Given the description of an element on the screen output the (x, y) to click on. 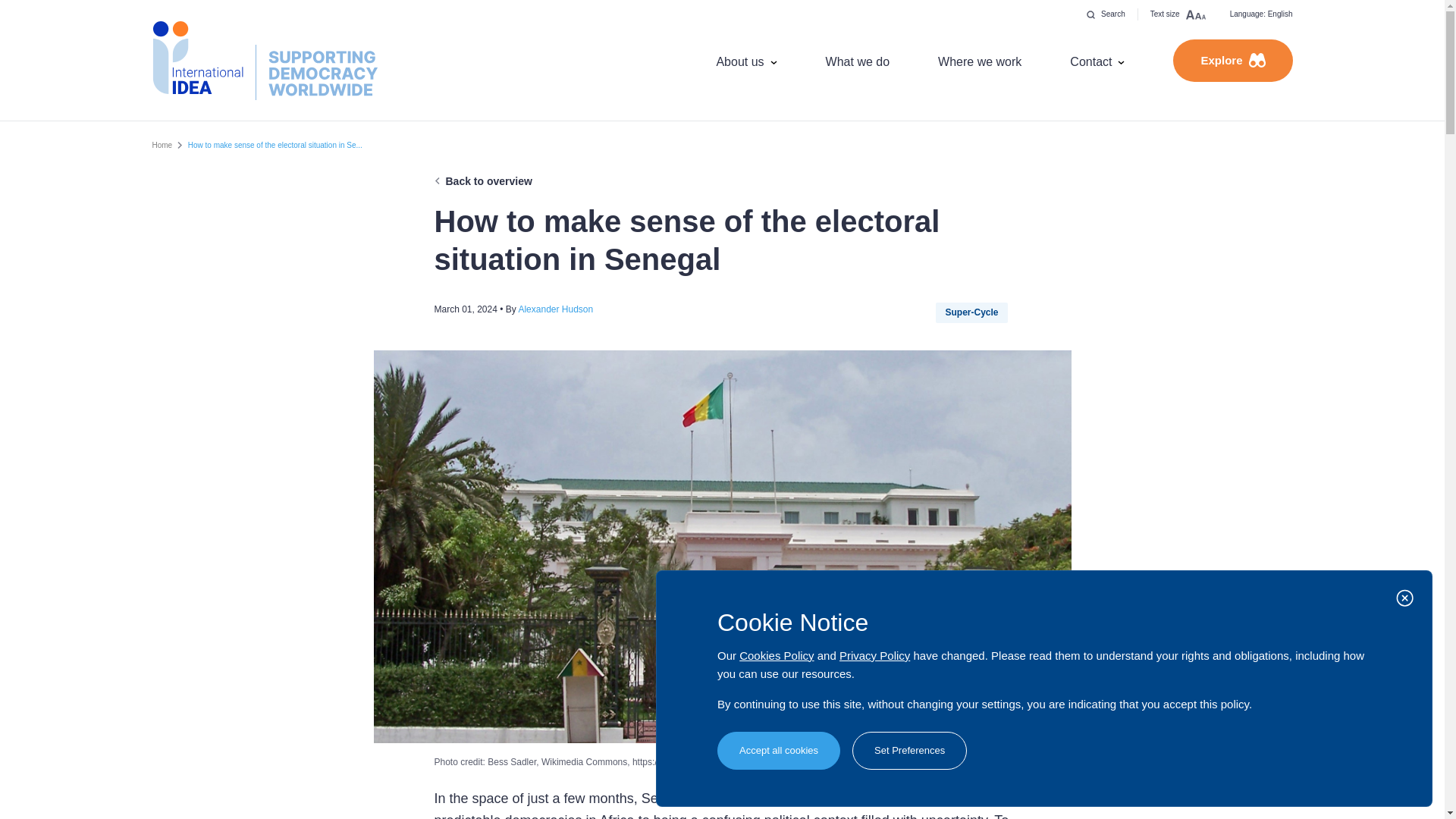
Contact (1097, 60)
What we do (857, 61)
Language: English (1260, 14)
Search (1106, 14)
About us (746, 60)
Where we work (979, 61)
Text size (1177, 14)
